Given the description of an element on the screen output the (x, y) to click on. 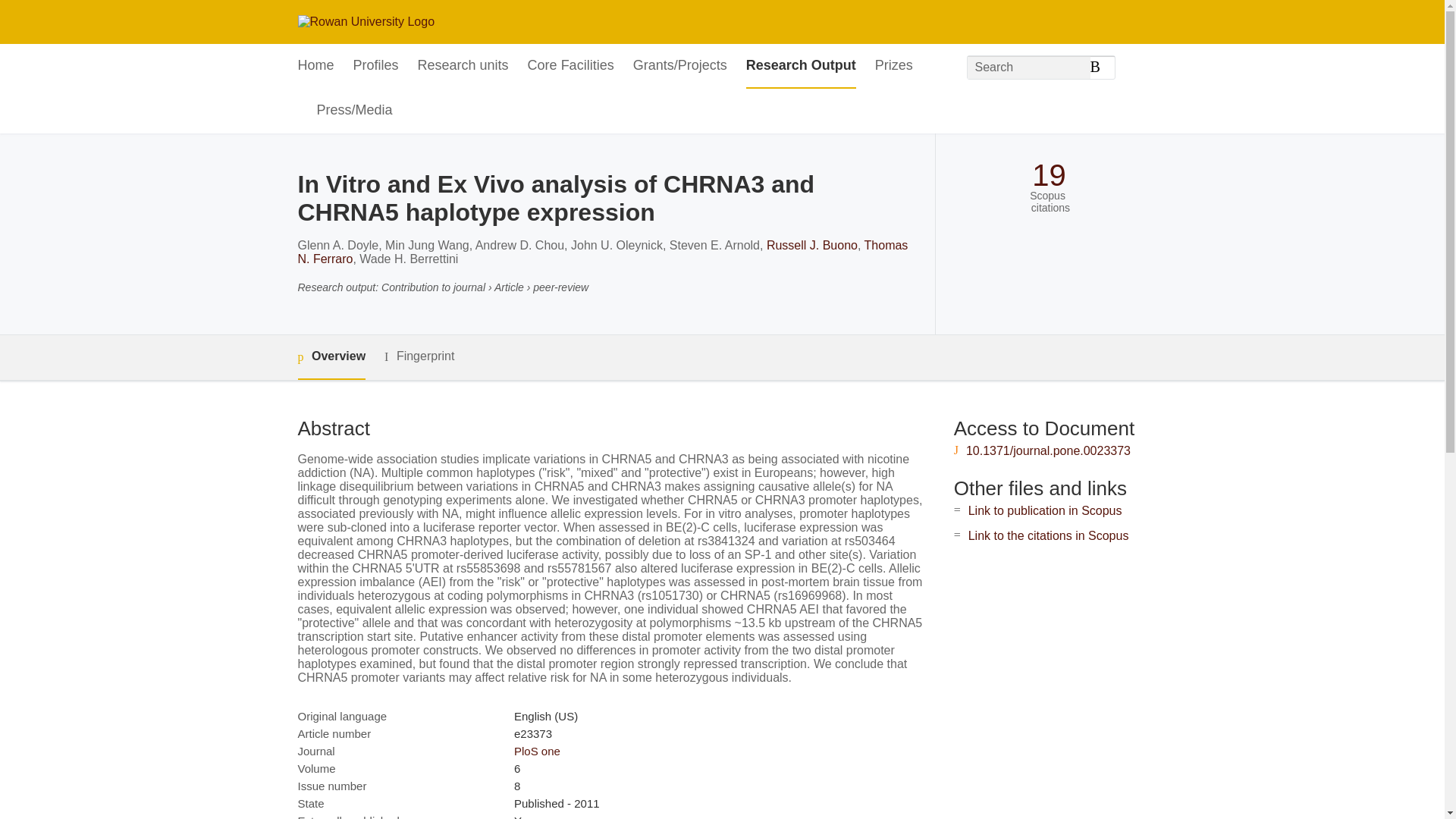
Link to the citations in Scopus (1048, 535)
Profiles (375, 66)
Fingerprint (419, 356)
Thomas N. Ferraro (602, 252)
Rowan University Home (365, 21)
Overview (331, 357)
Core Facilities (570, 66)
Research Output (800, 66)
Russell J. Buono (812, 245)
